Given the description of an element on the screen output the (x, y) to click on. 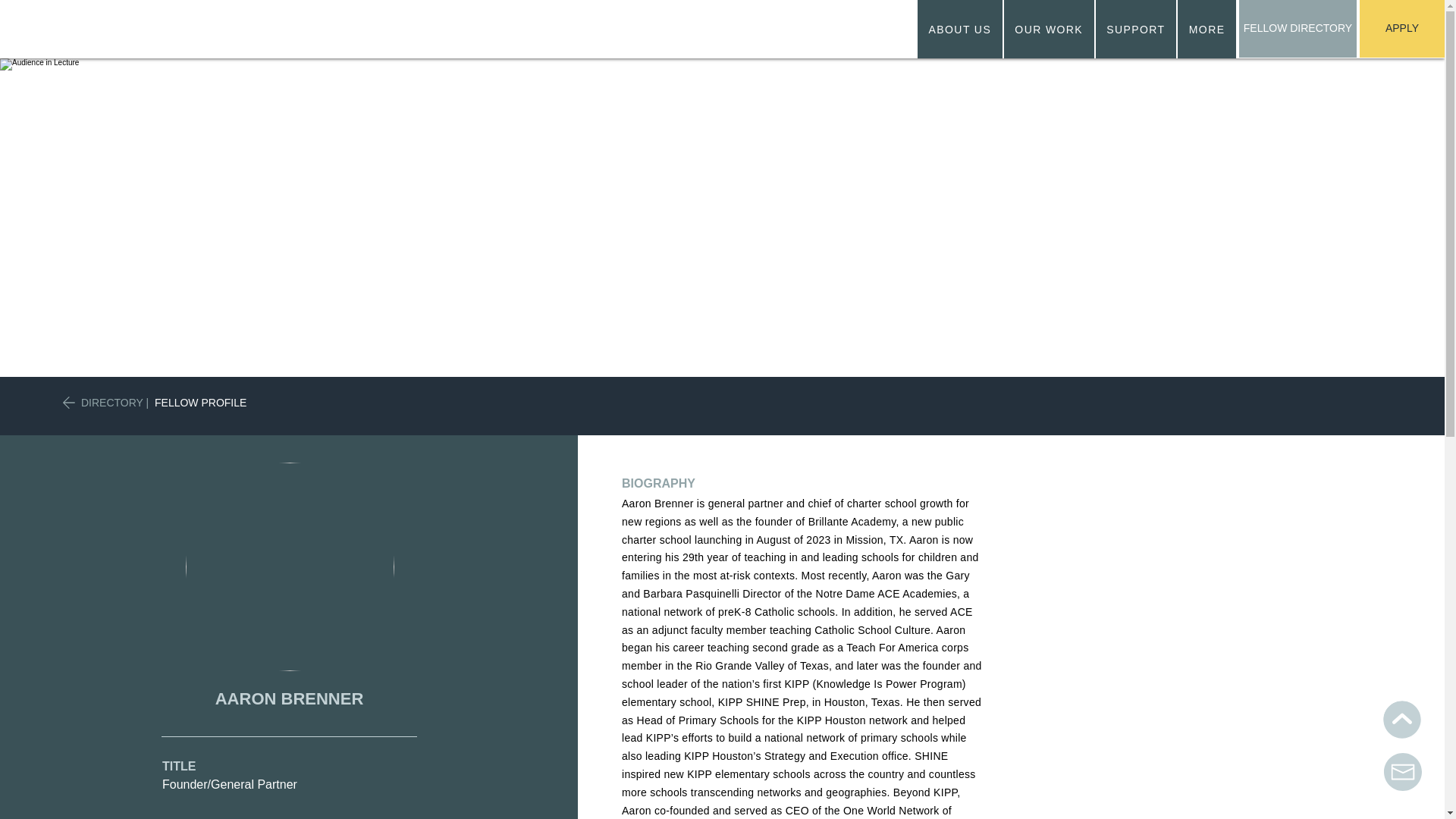
FELLOW DIRECTORY (1297, 28)
DIRECTORY (1076, 29)
ABOUT US (111, 402)
